Given the description of an element on the screen output the (x, y) to click on. 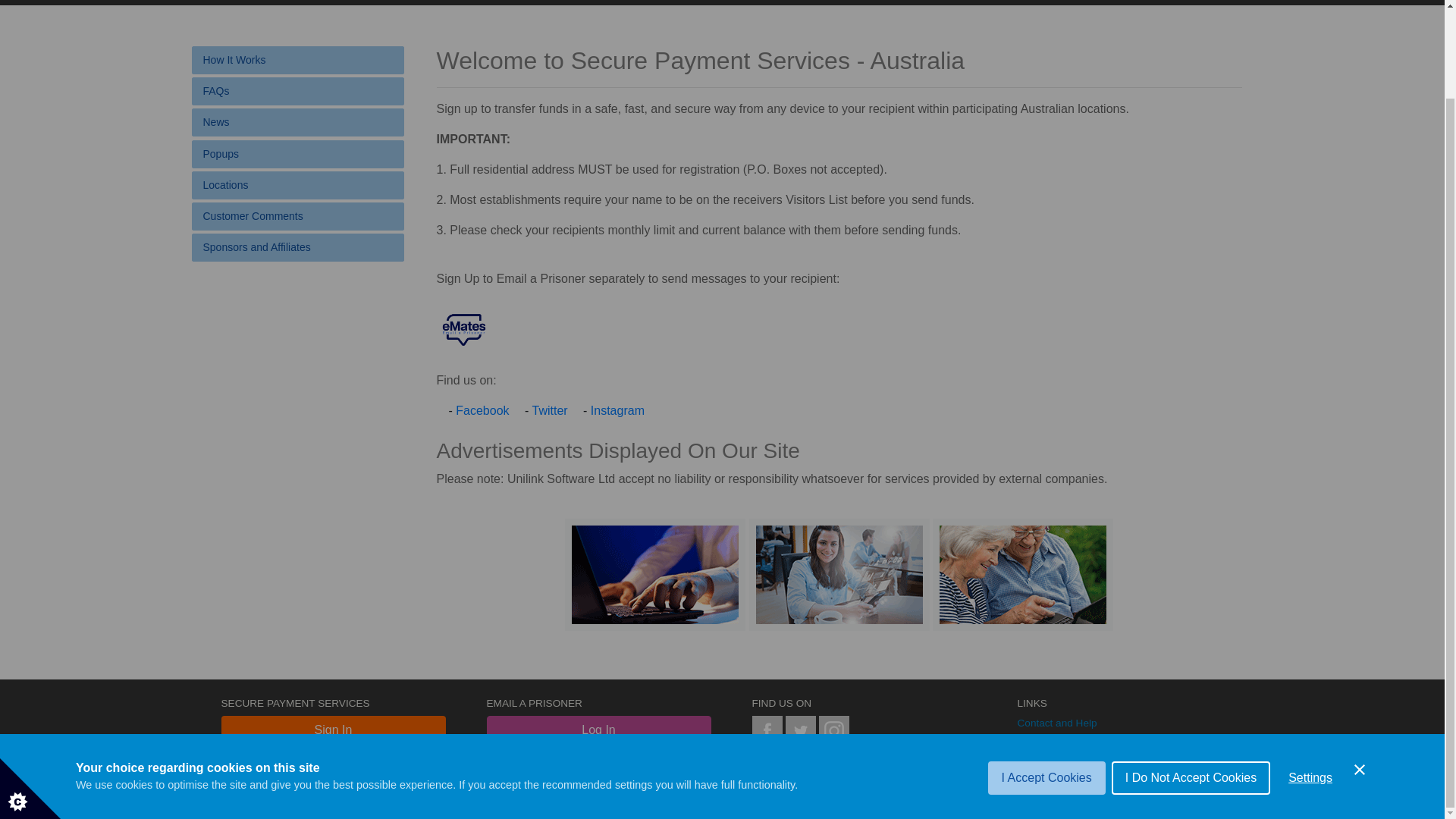
Twitter (549, 410)
Sign In (333, 729)
How It Works (296, 59)
Sponsors and Affiliates (296, 247)
I Do Not Accept Cookies (1190, 726)
Instagram (833, 730)
Contact and Help (1057, 722)
Instagram (618, 410)
Terms of Website Use (1067, 805)
Acceptable Use Policy (1068, 785)
